Given the description of an element on the screen output the (x, y) to click on. 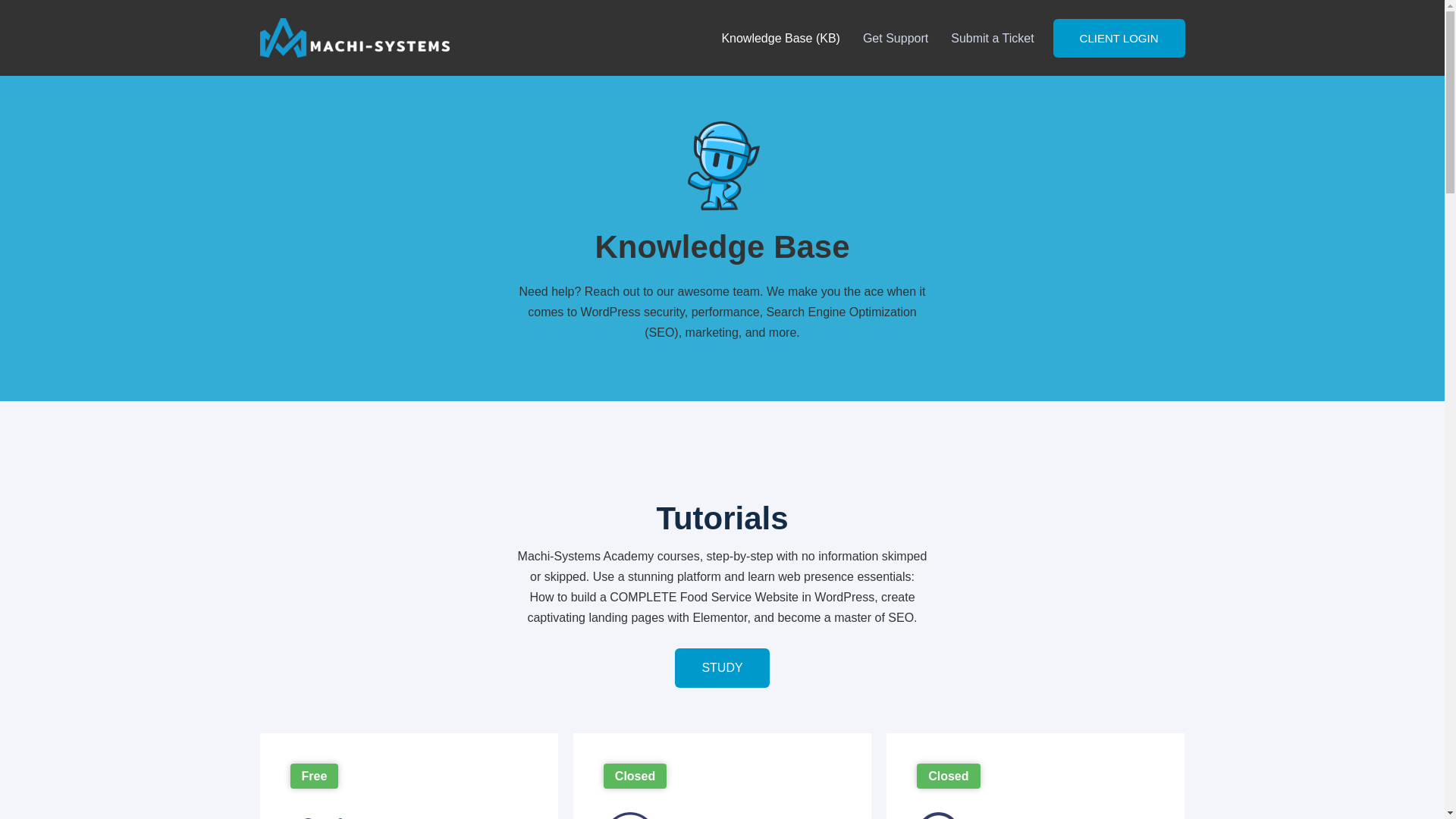
Submit a Ticket (992, 37)
CLIENT LOGIN (1118, 37)
STUDY (721, 667)
Get Support (895, 37)
